Given the description of an element on the screen output the (x, y) to click on. 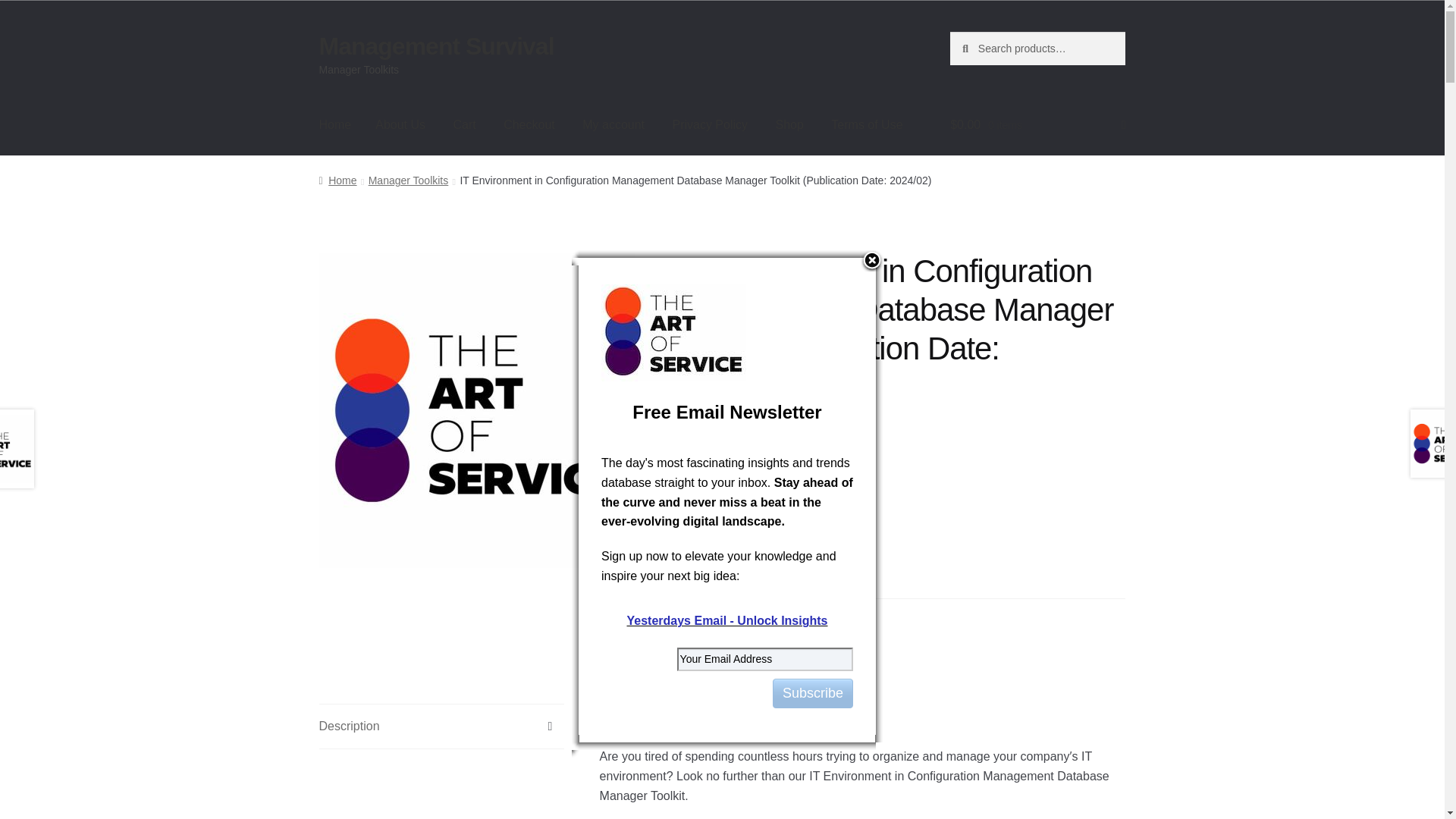
Home (337, 180)
Checkout (529, 124)
Manager Toolkits (762, 617)
Home (335, 124)
Description (441, 726)
Cart (464, 124)
Shop (788, 124)
Your Email Address (765, 658)
View your shopping cart (1037, 124)
Add to cart (780, 549)
Terms of Use (866, 124)
About Us (400, 124)
Privacy Policy (709, 124)
My account (613, 124)
